Given the description of an element on the screen output the (x, y) to click on. 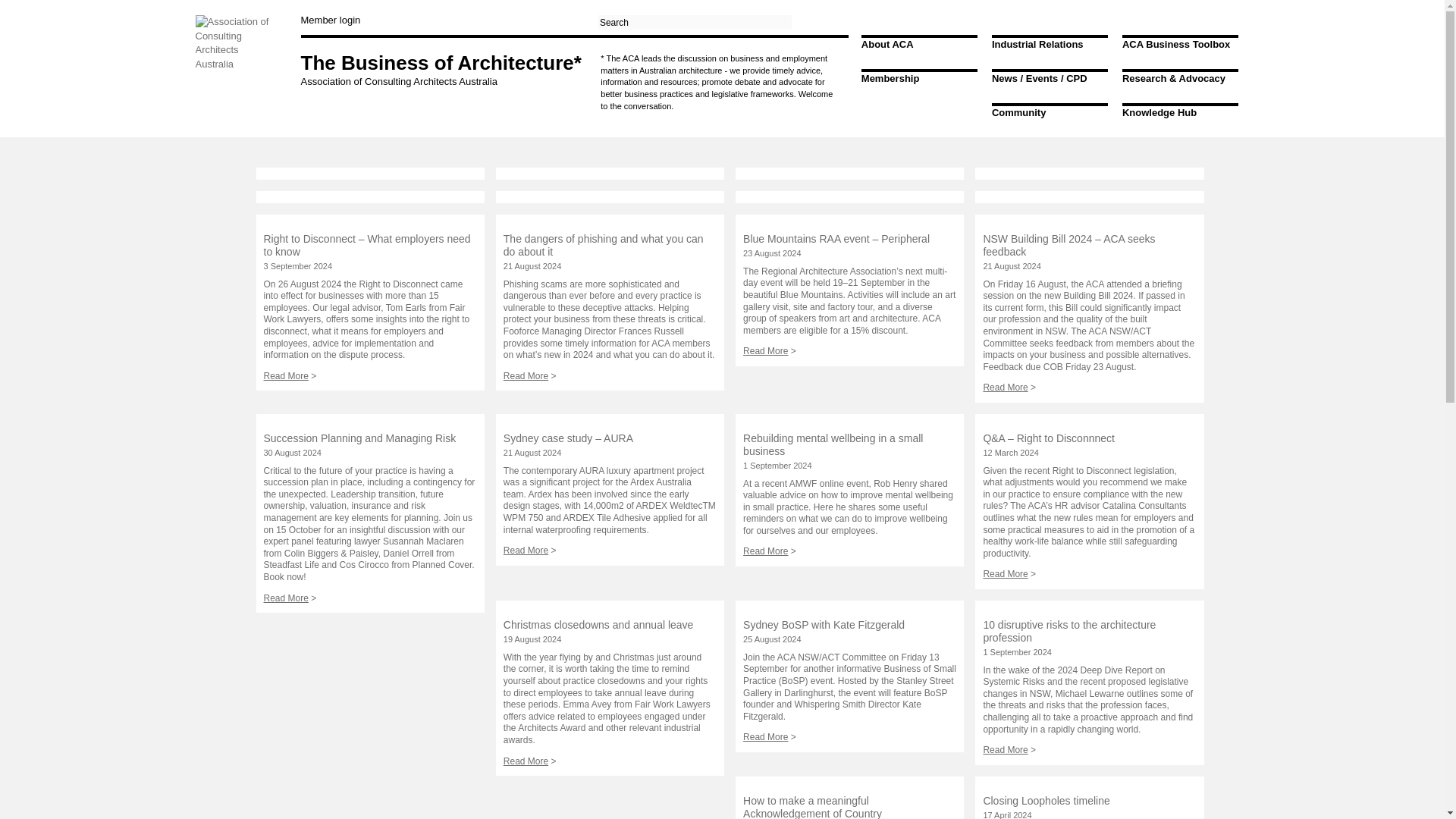
Knowledge Hub (1159, 112)
ACA Business Toolbox (1176, 43)
Member login (329, 19)
Industrial Relations (1037, 43)
About ACA (887, 43)
Membership (890, 78)
